Given the description of an element on the screen output the (x, y) to click on. 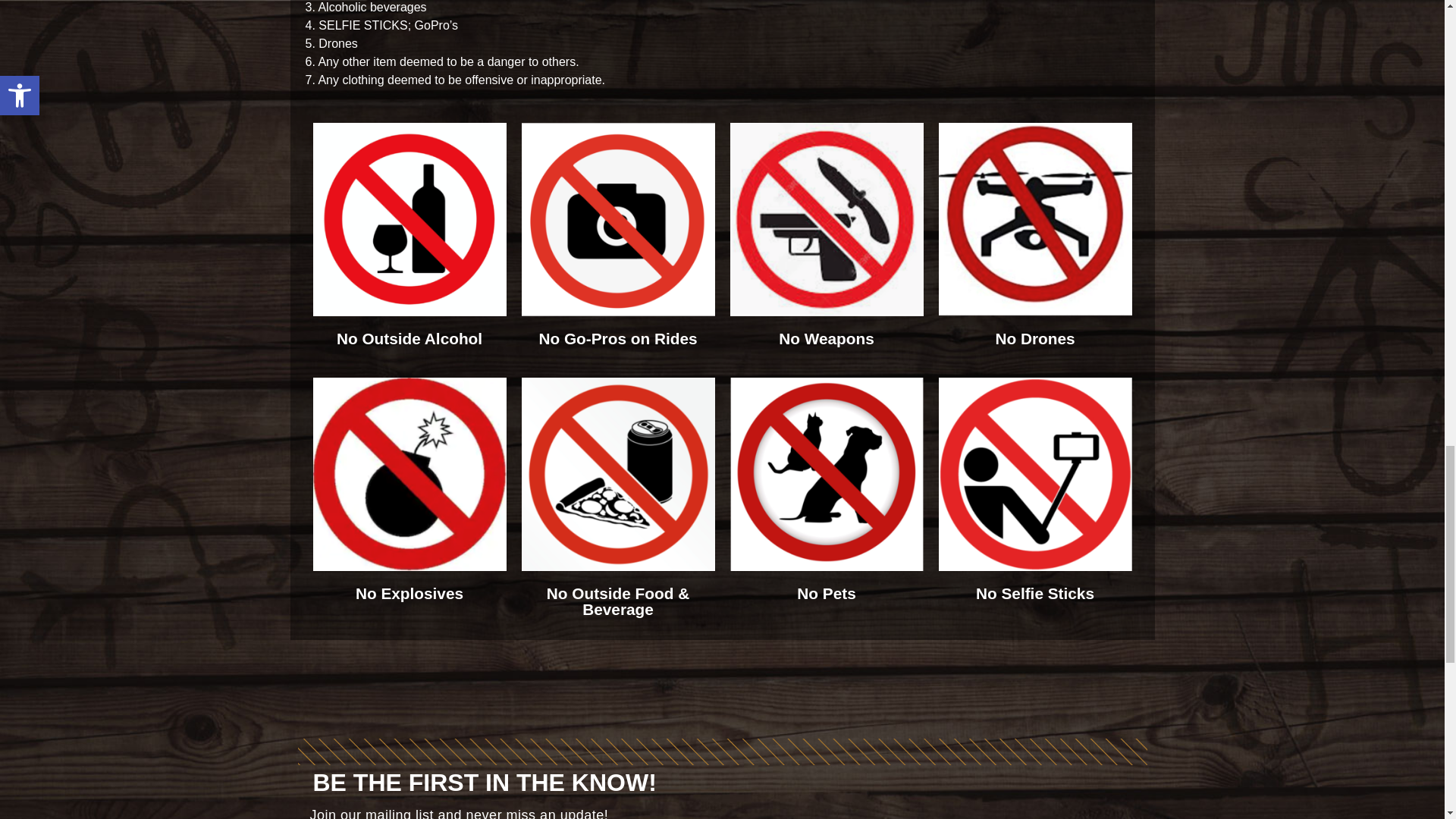
Subscription form (948, 805)
slanted-lines-gold.png (722, 751)
